Given the description of an element on the screen output the (x, y) to click on. 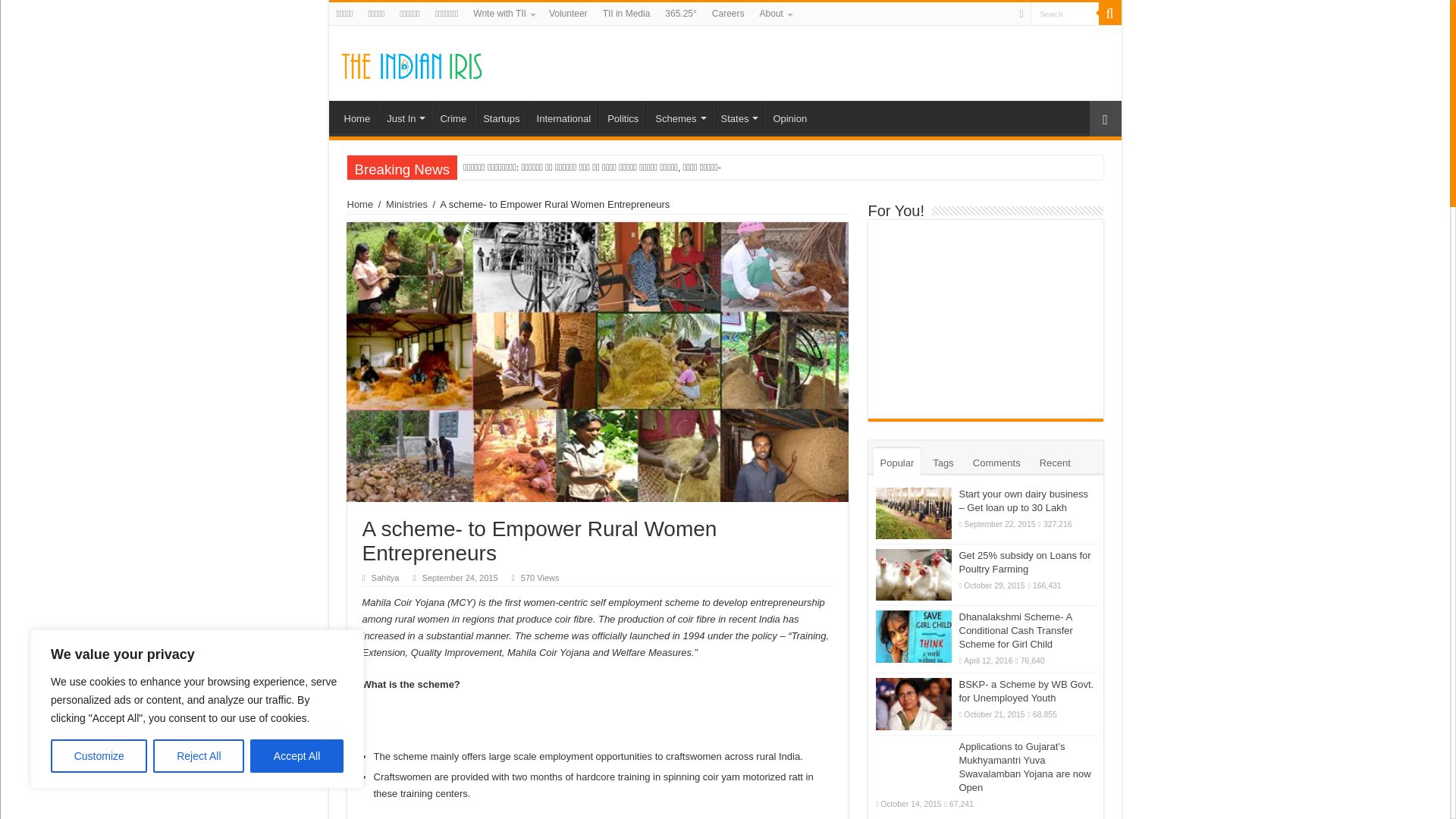
Customize (98, 756)
Accept All (296, 756)
Reject All (198, 756)
Search (1063, 13)
Search (1063, 13)
The Indian Iris (411, 63)
